Given the description of an element on the screen output the (x, y) to click on. 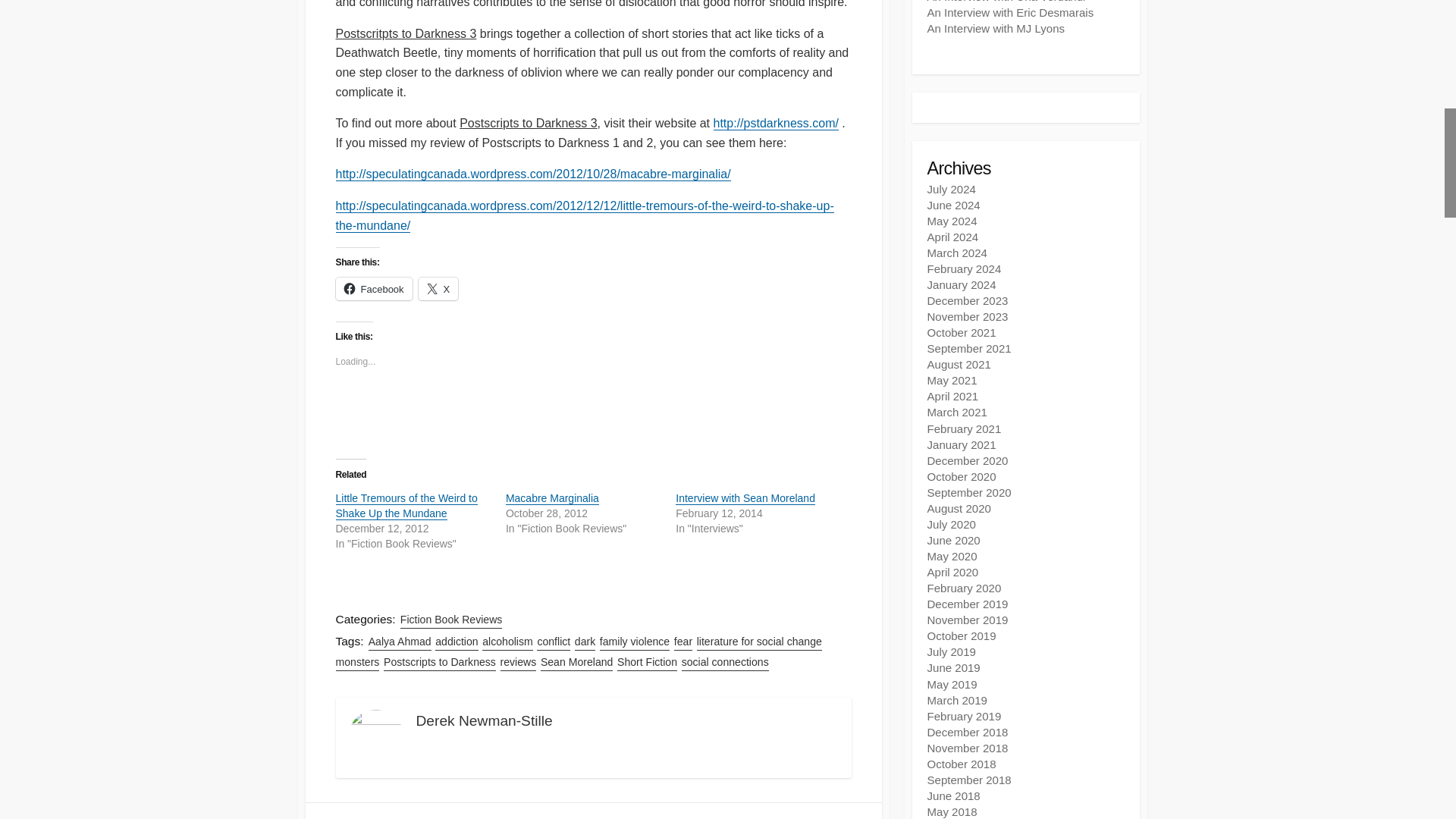
Interview with Sean Moreland (745, 498)
X (438, 288)
reviews (518, 661)
Short Fiction (647, 661)
Little Tremours of the Weird to Shake Up the Mundane (405, 505)
monsters (356, 661)
Click to share on Facebook (373, 288)
Like or Reblog (592, 413)
dark (585, 641)
Fiction Book Reviews (451, 619)
